Given the description of an element on the screen output the (x, y) to click on. 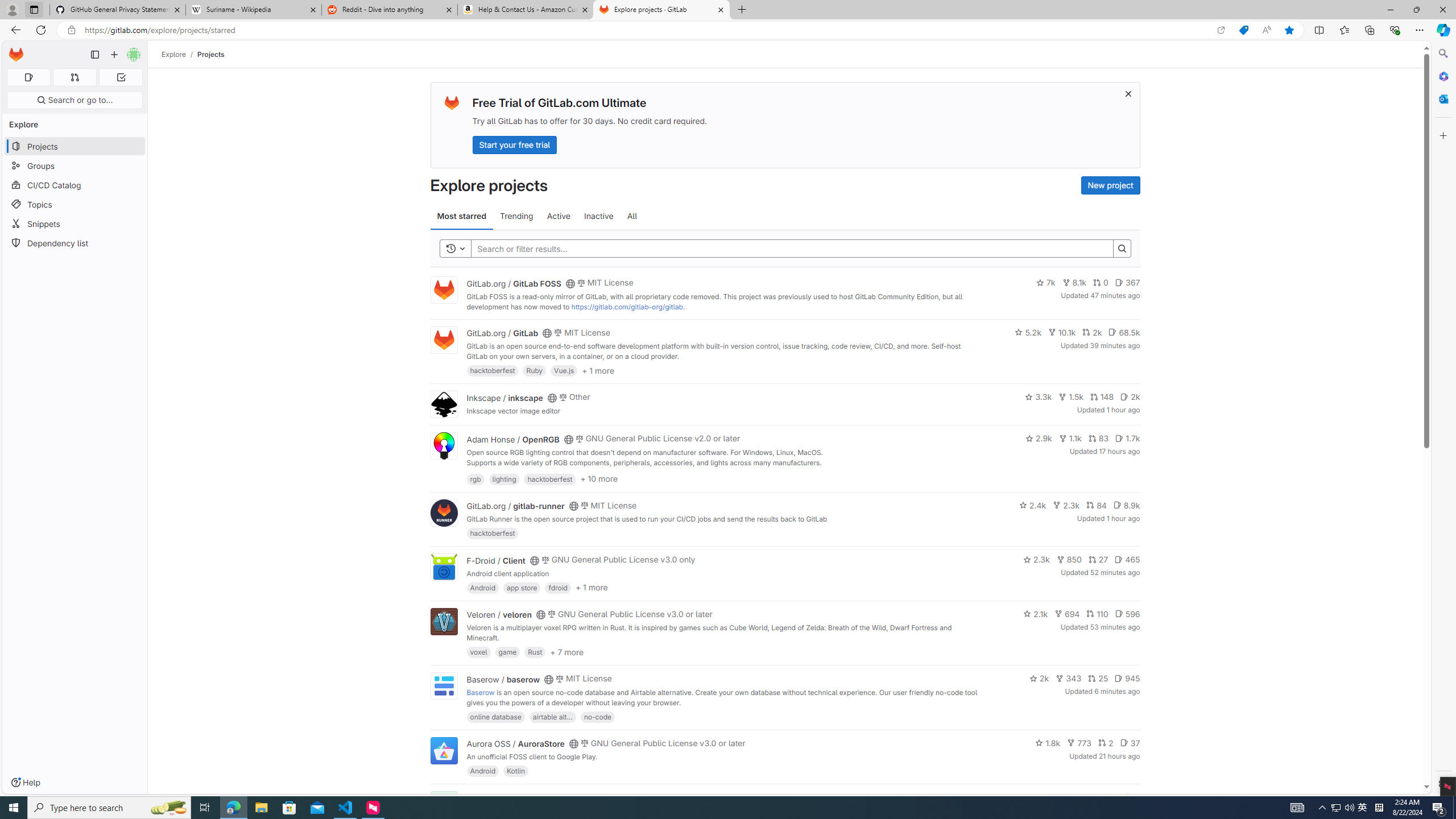
148 (1101, 396)
Groups (74, 165)
Merge requests 0 (74, 76)
Suriname - Wikipedia (253, 9)
694 (1067, 613)
343 (1068, 678)
2k (1039, 678)
1.8k (1048, 742)
GitHub General Privacy Statement - GitHub Docs (117, 9)
GitLab.org / gitlab-runner (514, 506)
